Given the description of an element on the screen output the (x, y) to click on. 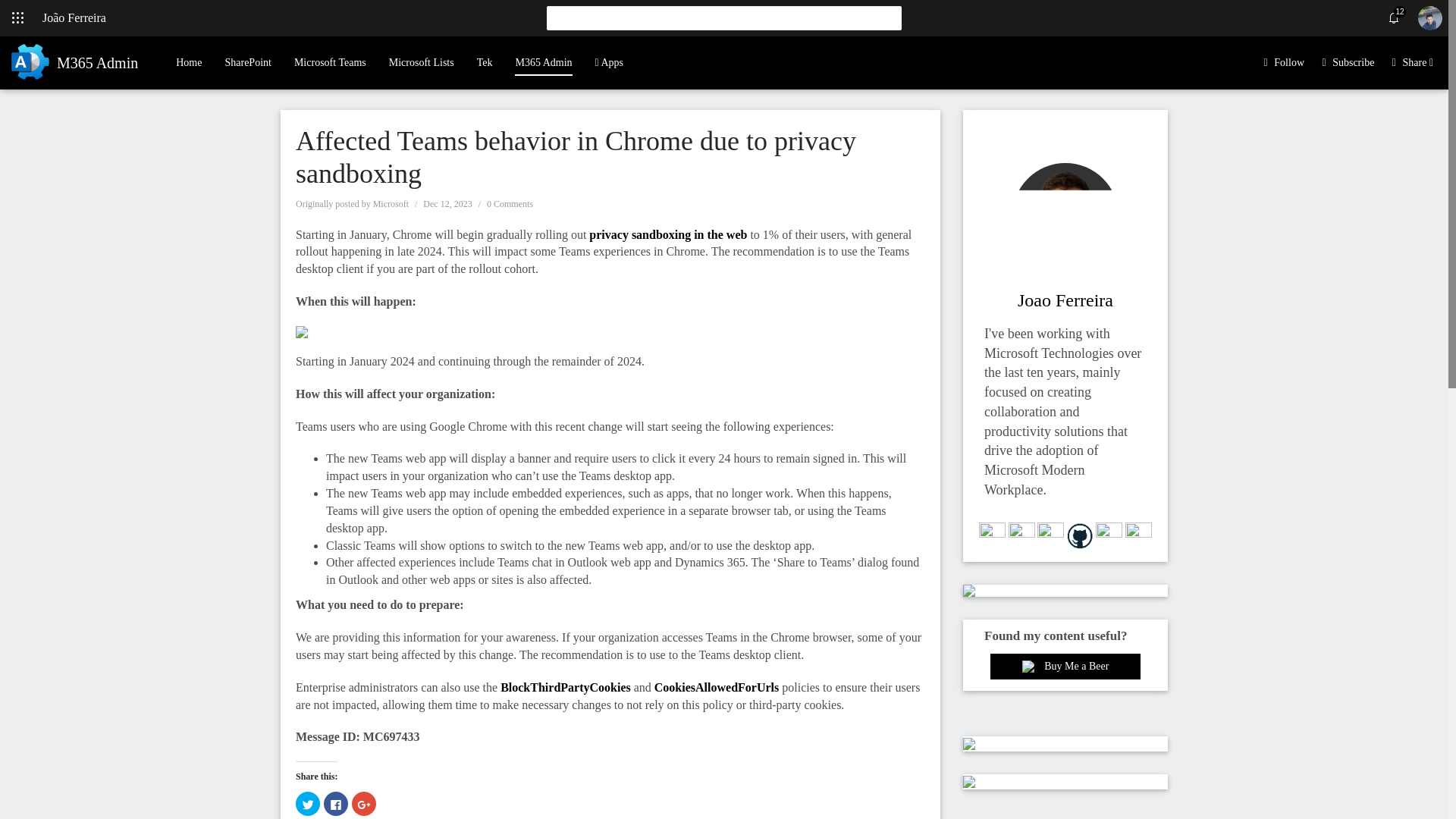
Microsoft Lists (421, 62)
M365 Admin (70, 62)
Click to share on Facebook (335, 803)
M365 Admin (543, 56)
privacy sandboxing in the web (667, 234)
Follow (1289, 61)
Microsoft Teams (330, 62)
Search (889, 17)
Subscribe (1353, 61)
Click to share on Twitter (307, 803)
Search (889, 17)
CookiesAllowedForUrls (715, 686)
Joao Ferreira (1065, 300)
0 Comments (509, 204)
